Given the description of an element on the screen output the (x, y) to click on. 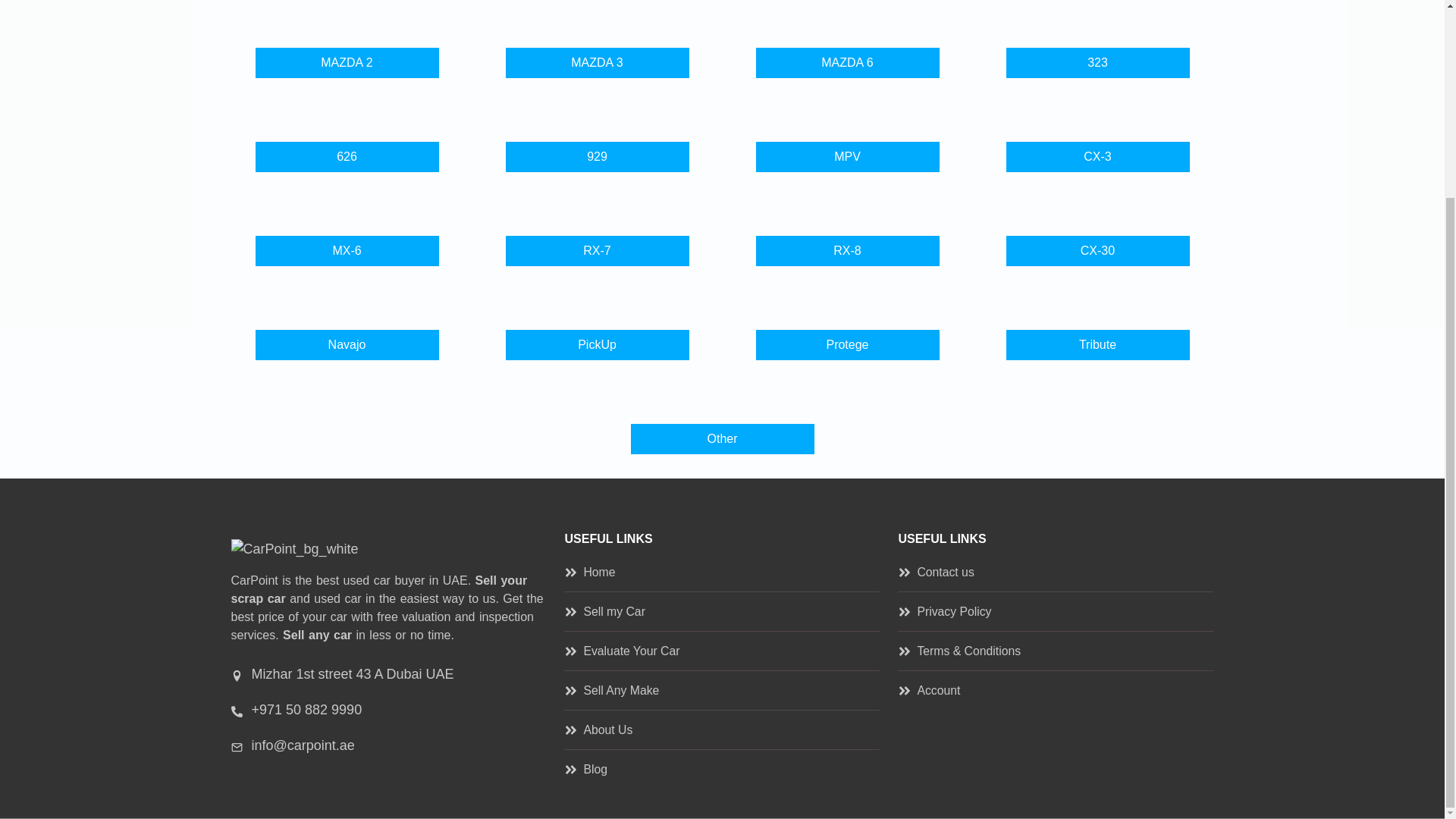
Sell Any Make (611, 689)
Contact us (936, 571)
Sell my Car (604, 611)
Evaluate Your Car (621, 650)
Blog (585, 768)
About Us (597, 729)
Home (589, 571)
Account (928, 689)
Privacy Policy (944, 611)
Mizhar 1st street 43 A Dubai UAE (341, 674)
